Given the description of an element on the screen output the (x, y) to click on. 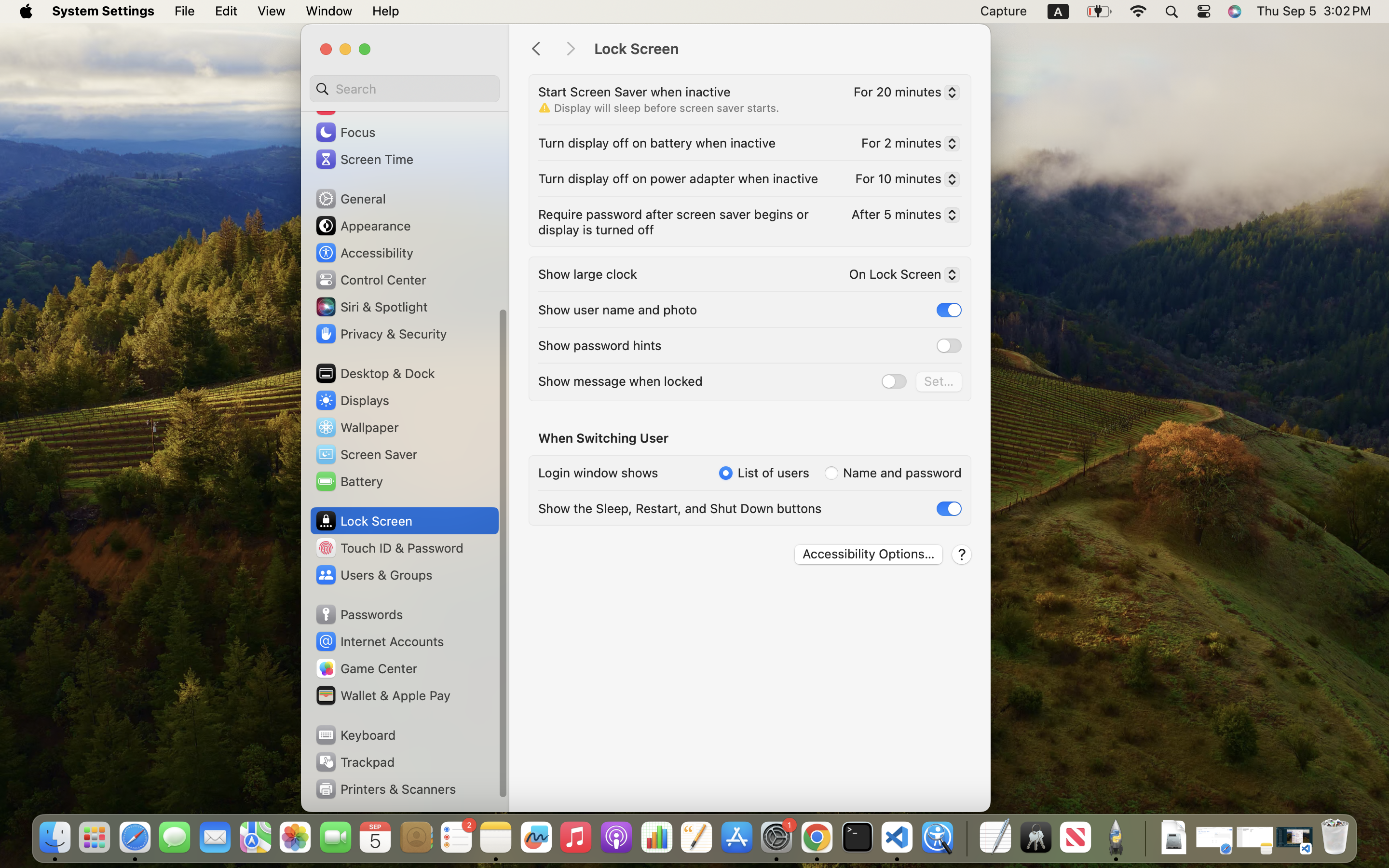
Printers & Scanners Element type: AXStaticText (385, 788)
Keyboard Element type: AXStaticText (354, 734)
Privacy & Security Element type: AXStaticText (380, 333)
After 5 minutes Element type: AXPopUpButton (901, 216)
Warning Display will sleep before screen saver starts. Element type: AXStaticText (658, 107)
